Given the description of an element on the screen output the (x, y) to click on. 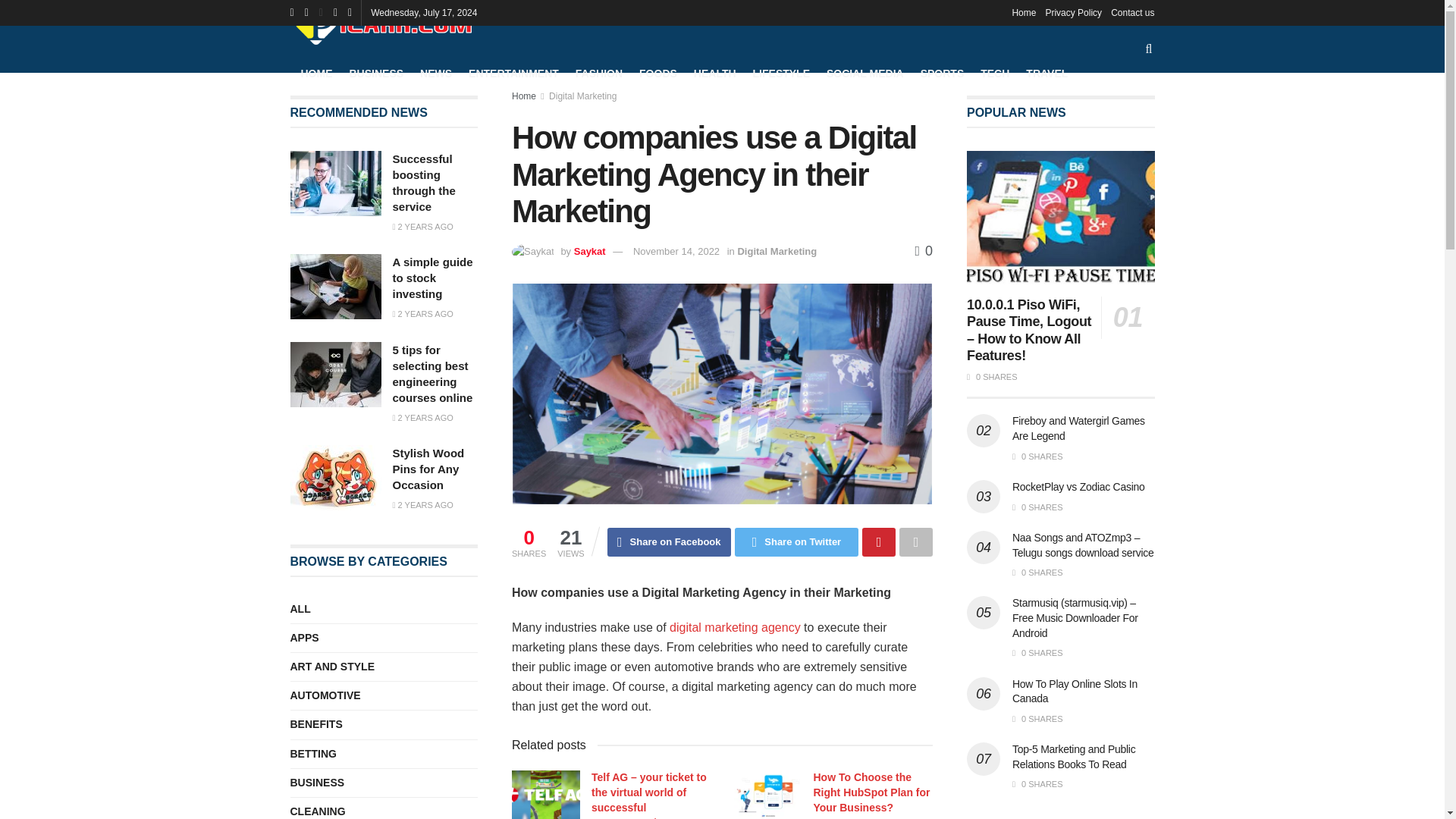
November 14, 2022 (676, 251)
SPORTS (941, 73)
ENTERTAINMENT (513, 73)
FASHION (599, 73)
digital marketing agency (734, 626)
Share on Twitter (797, 541)
LIFESTYLE (780, 73)
HEALTH (715, 73)
Digital Marketing (581, 95)
Saykat (589, 251)
Home (1023, 12)
0 (923, 250)
Digital Marketing (776, 251)
Privacy Policy (1073, 12)
Home (523, 95)
